Given the description of an element on the screen output the (x, y) to click on. 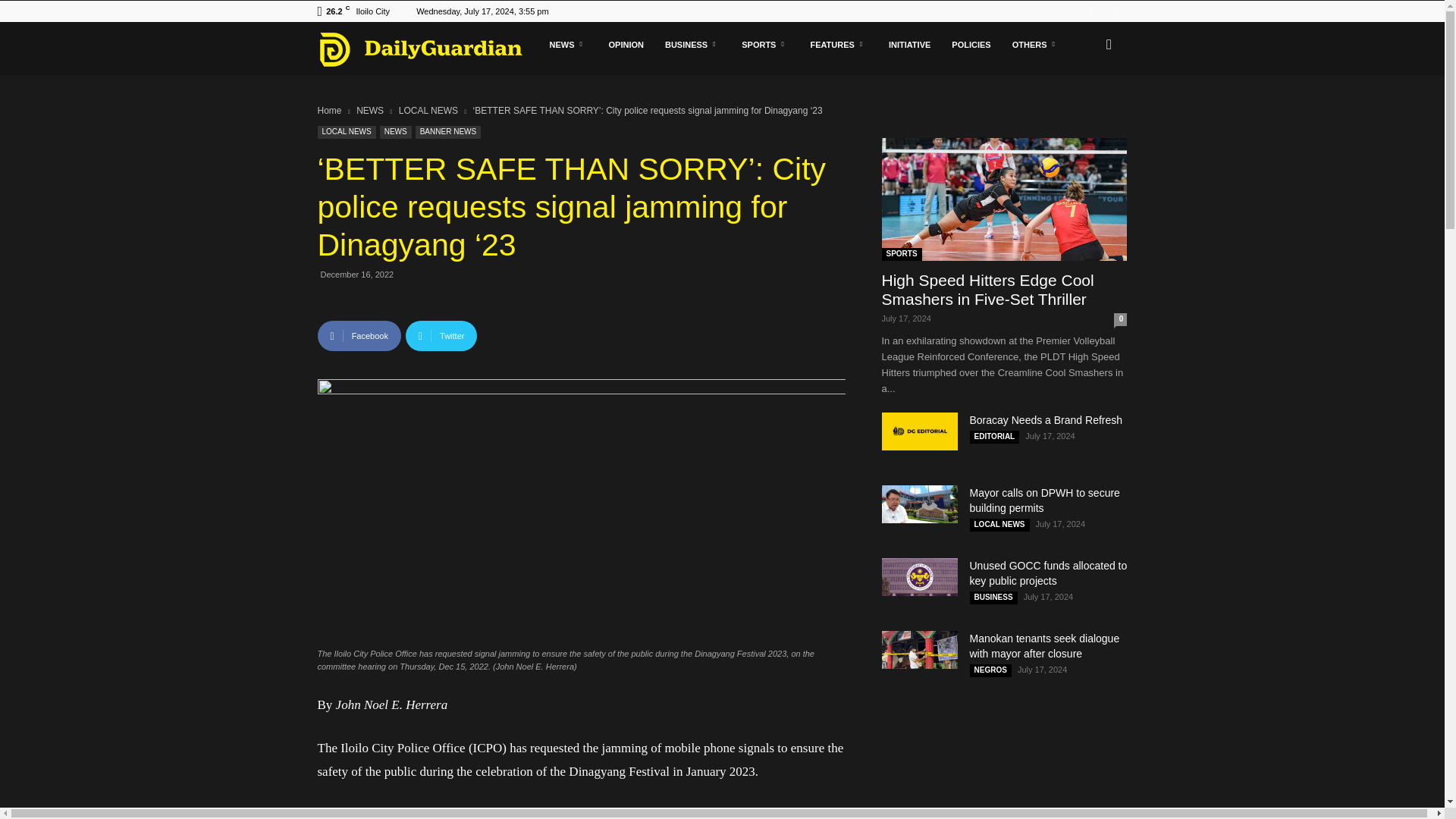
NEWS (567, 44)
Facebook (1090, 11)
Twitter (1114, 11)
Daily Guardian (427, 48)
We write, you decide. (419, 48)
